Given the description of an element on the screen output the (x, y) to click on. 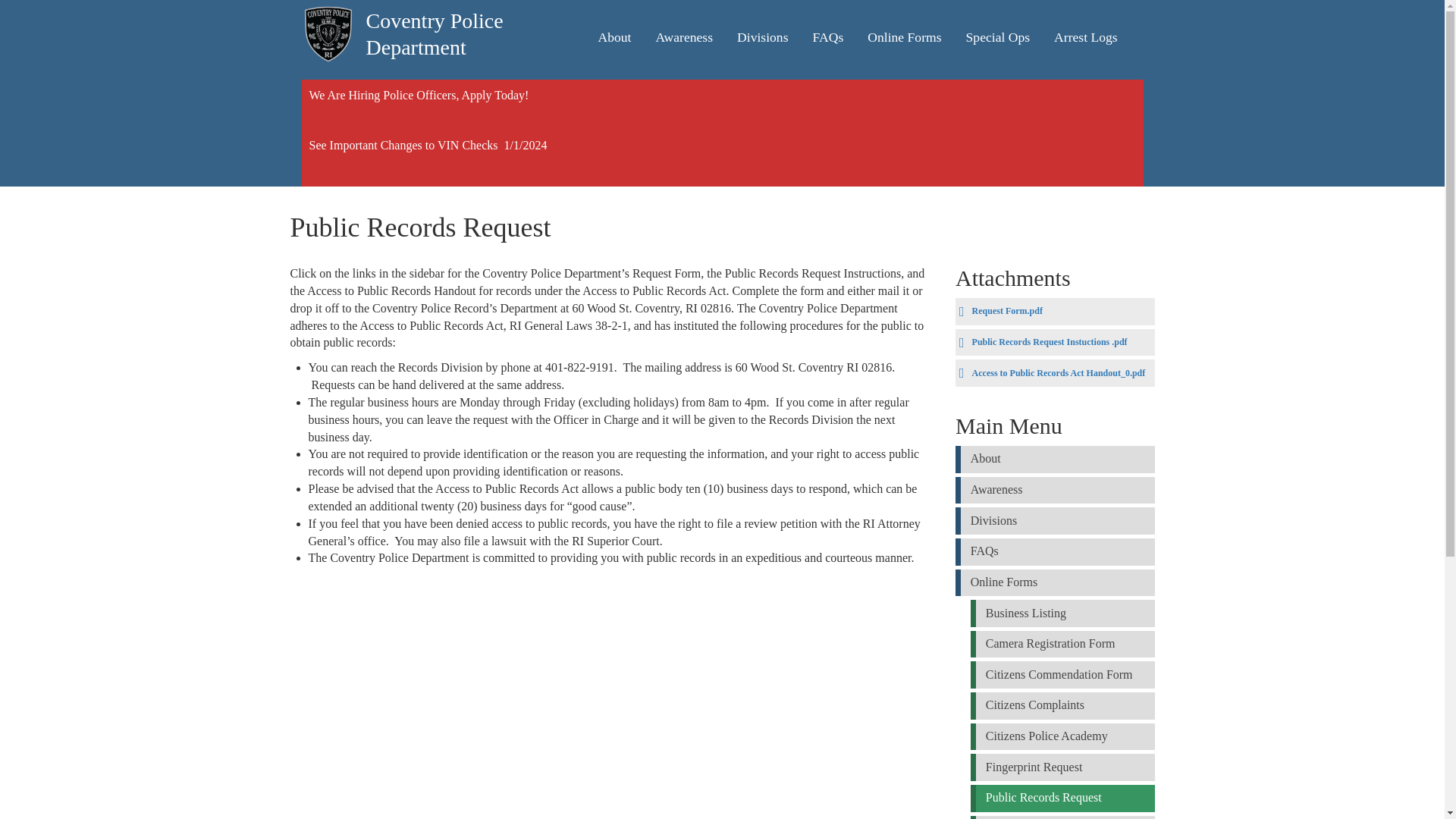
Coventry Police Department (459, 17)
Security Camera Registration Program (1054, 583)
Home (327, 34)
Home (459, 17)
Divisions (761, 37)
About (614, 37)
Security Camera Registration Program (904, 37)
Awareness (684, 37)
